Given the description of an element on the screen output the (x, y) to click on. 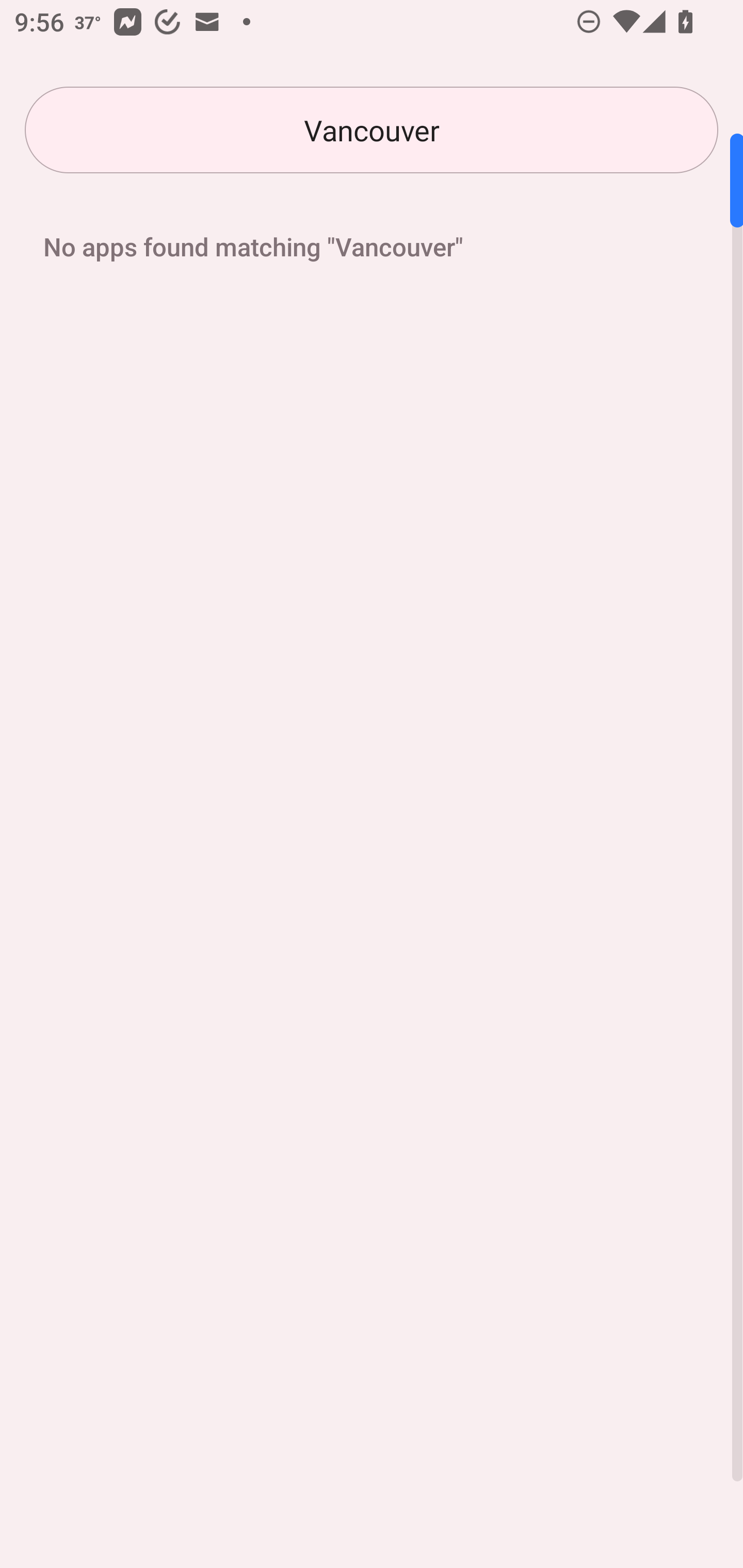
Vancouver (371, 130)
